Given the description of an element on the screen output the (x, y) to click on. 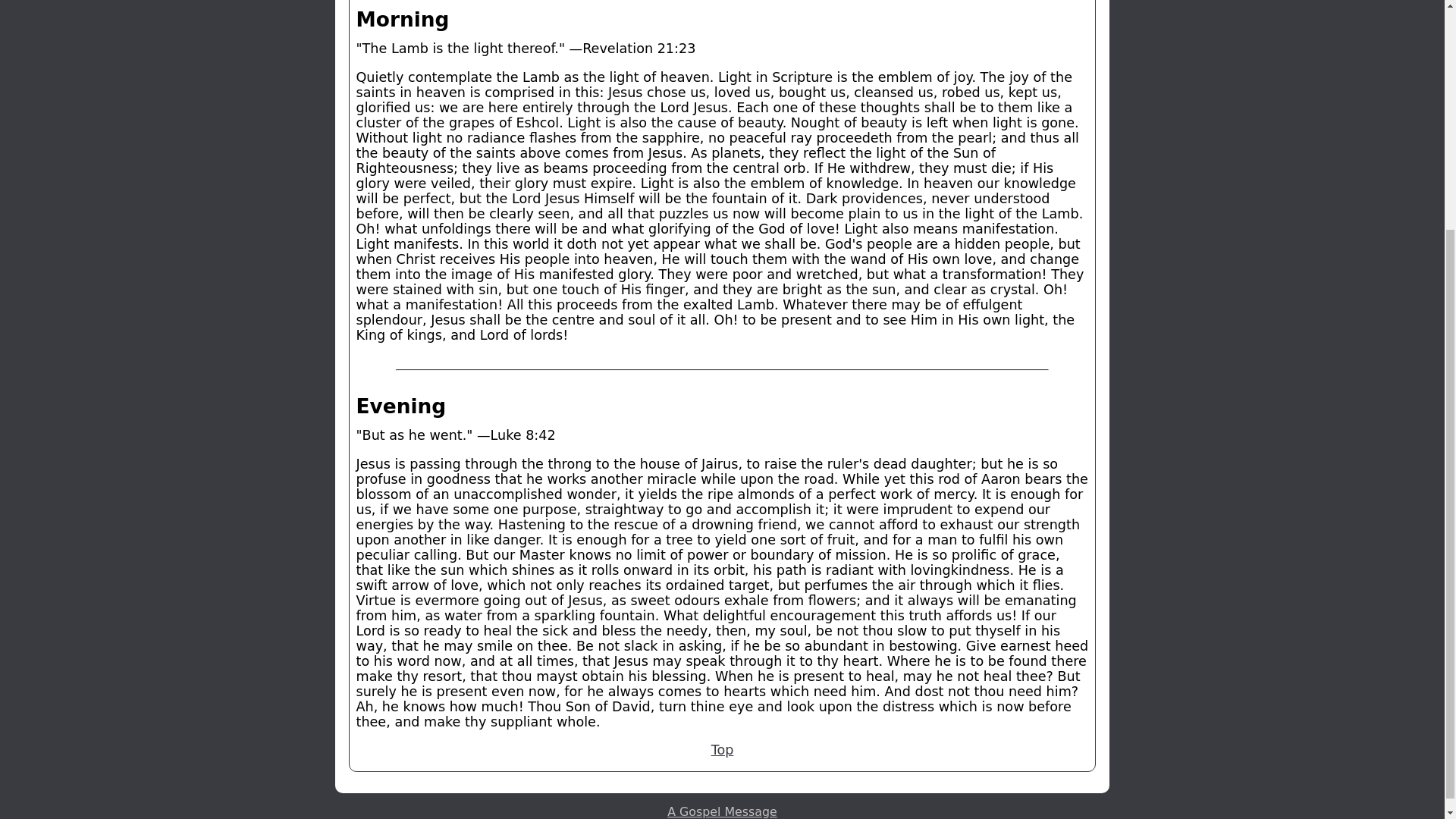
Top (722, 749)
